Given the description of an element on the screen output the (x, y) to click on. 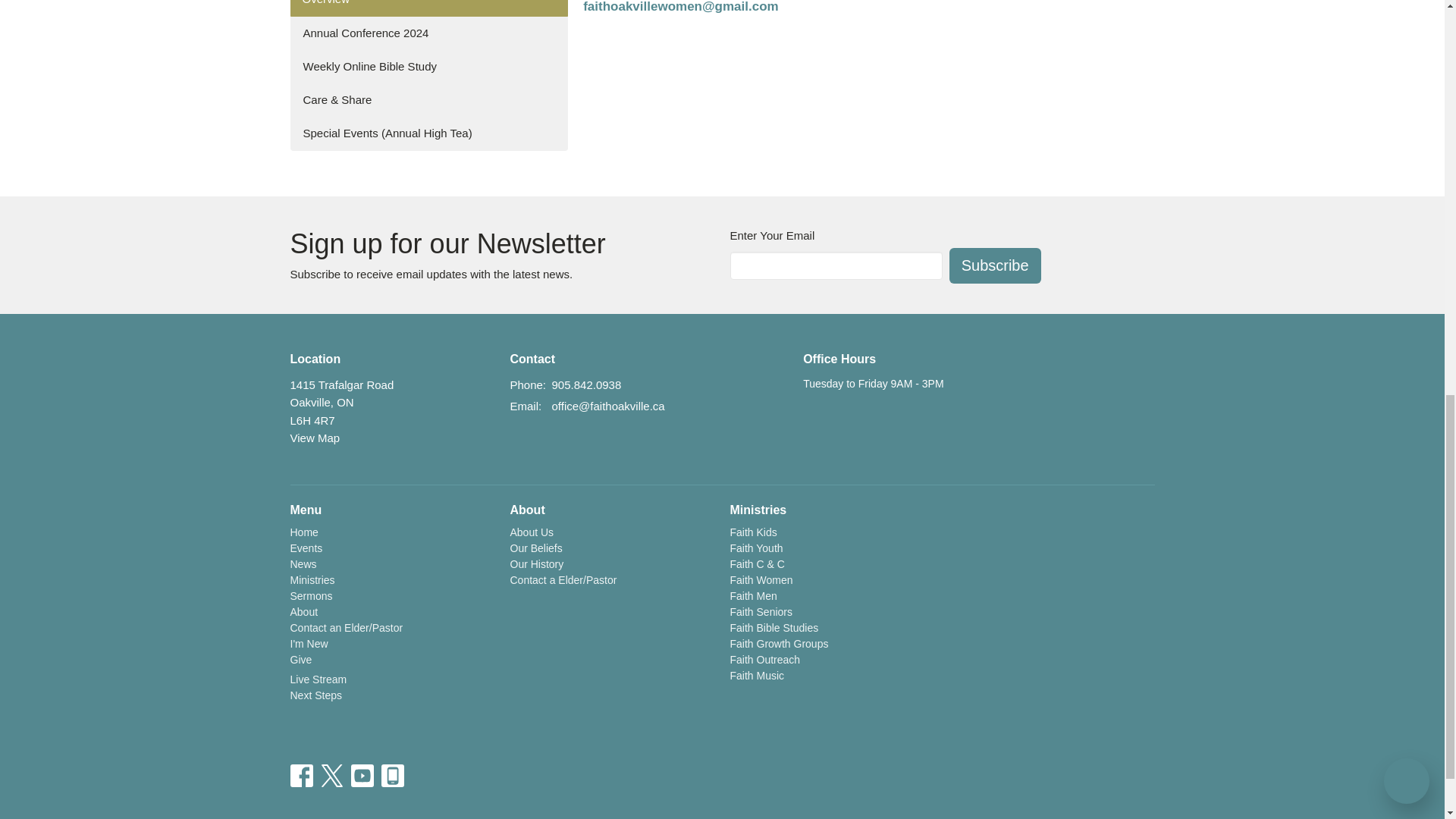
Ministries (311, 580)
translation missing: en.ui.email (523, 405)
Home (303, 532)
About (303, 612)
I'm New (308, 644)
Sermons (310, 595)
Annual Conference 2024 (428, 32)
Subscribe (995, 265)
Weekly Online Bible Study (428, 66)
905.842.0938 (586, 384)
